Given the description of an element on the screen output the (x, y) to click on. 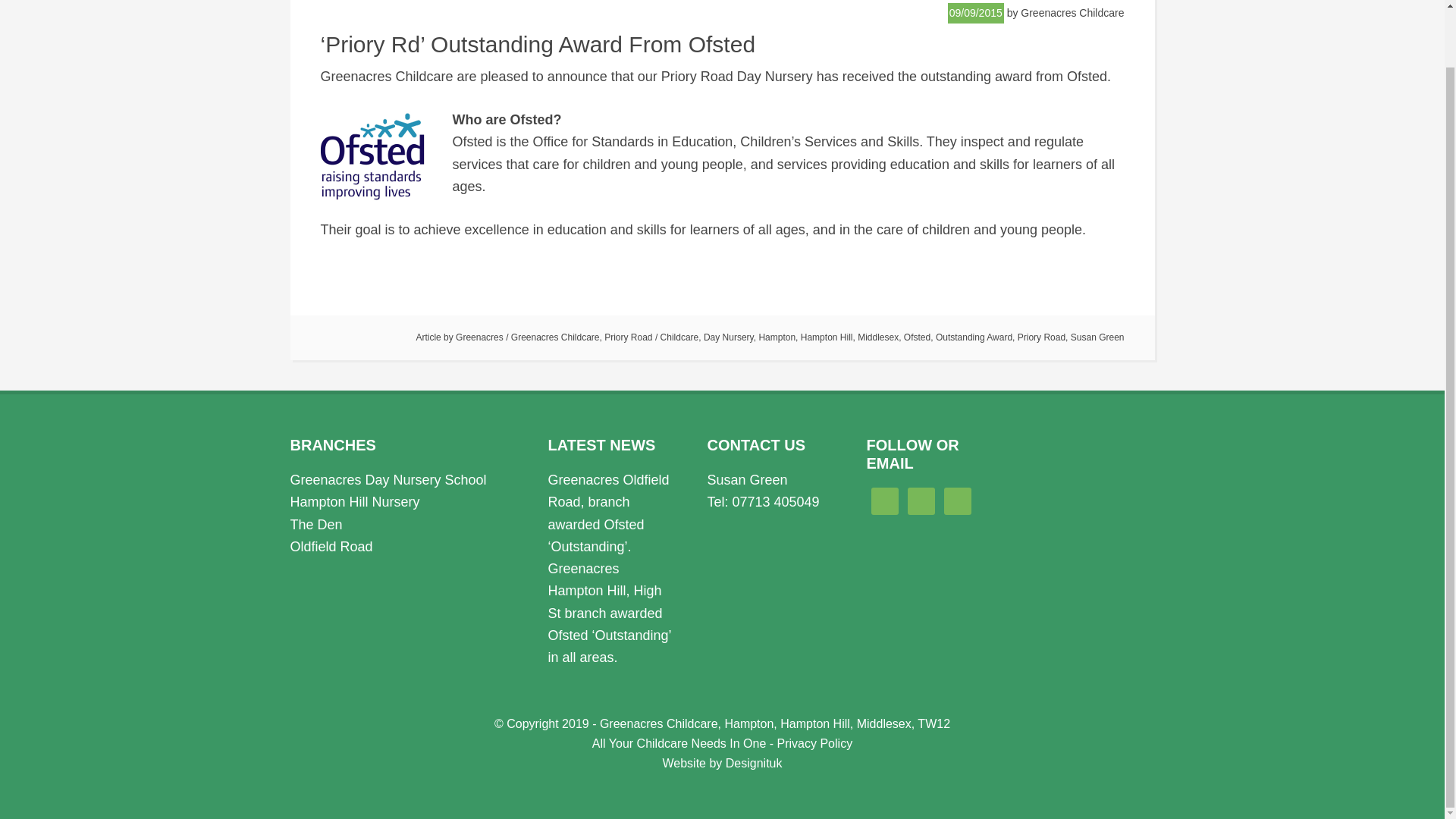
Childcare (679, 337)
Outstanding Award (973, 337)
Oldfield Road (330, 546)
Greenacres Day Nursery School (387, 479)
Hampton Hill Nursery (354, 501)
Ofsted (917, 337)
Hampton Hill (826, 337)
Priory Road (1041, 337)
The Den (315, 524)
Day Nursery (728, 337)
Middlesex (877, 337)
Hampton (776, 337)
Greenacres (479, 337)
Susan Green (1097, 337)
Greenacres Childcare (555, 337)
